Given the description of an element on the screen output the (x, y) to click on. 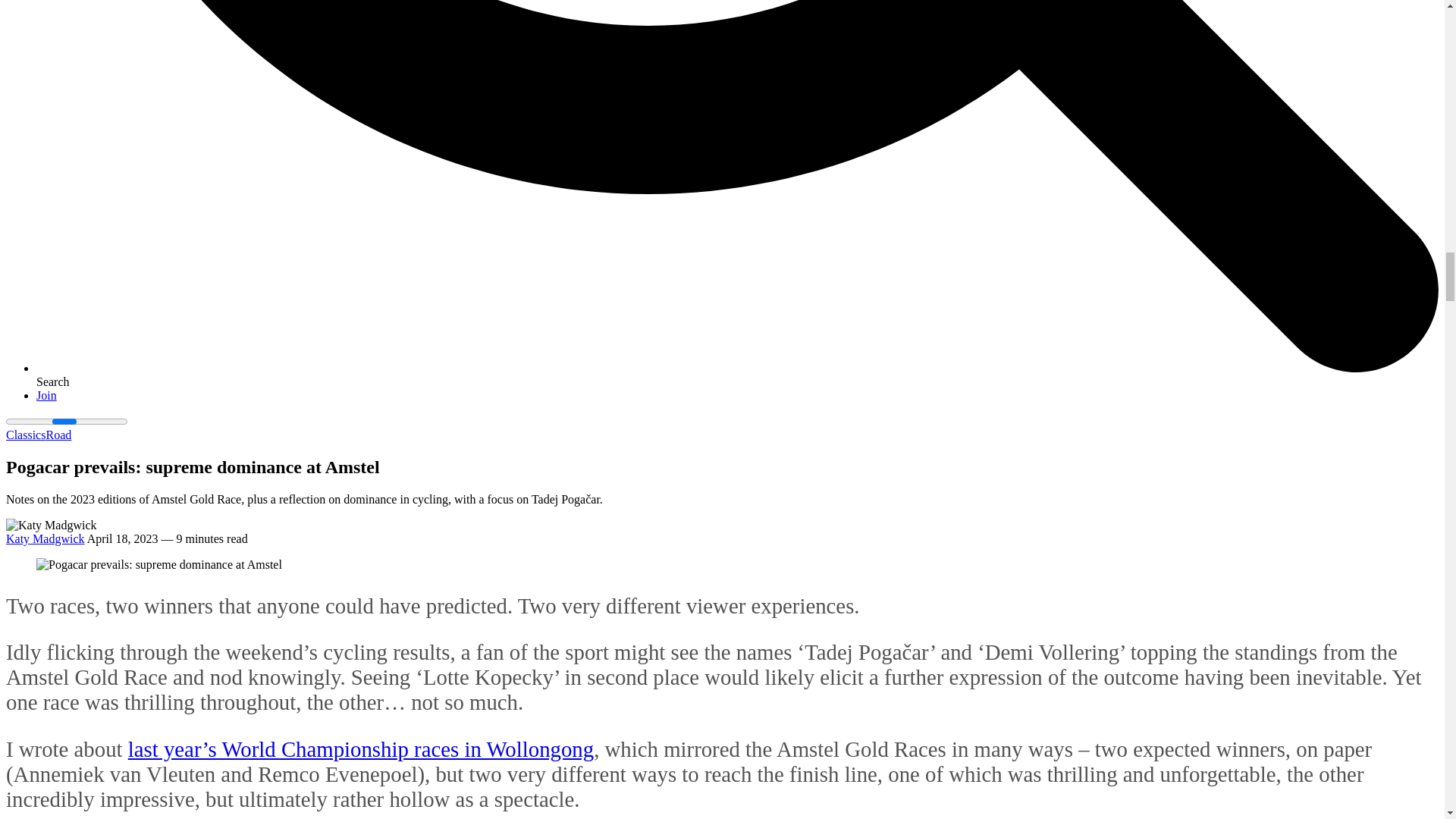
Road (58, 434)
Join (46, 395)
Katy Madgwick (44, 538)
Classics (25, 434)
